Given the description of an element on the screen output the (x, y) to click on. 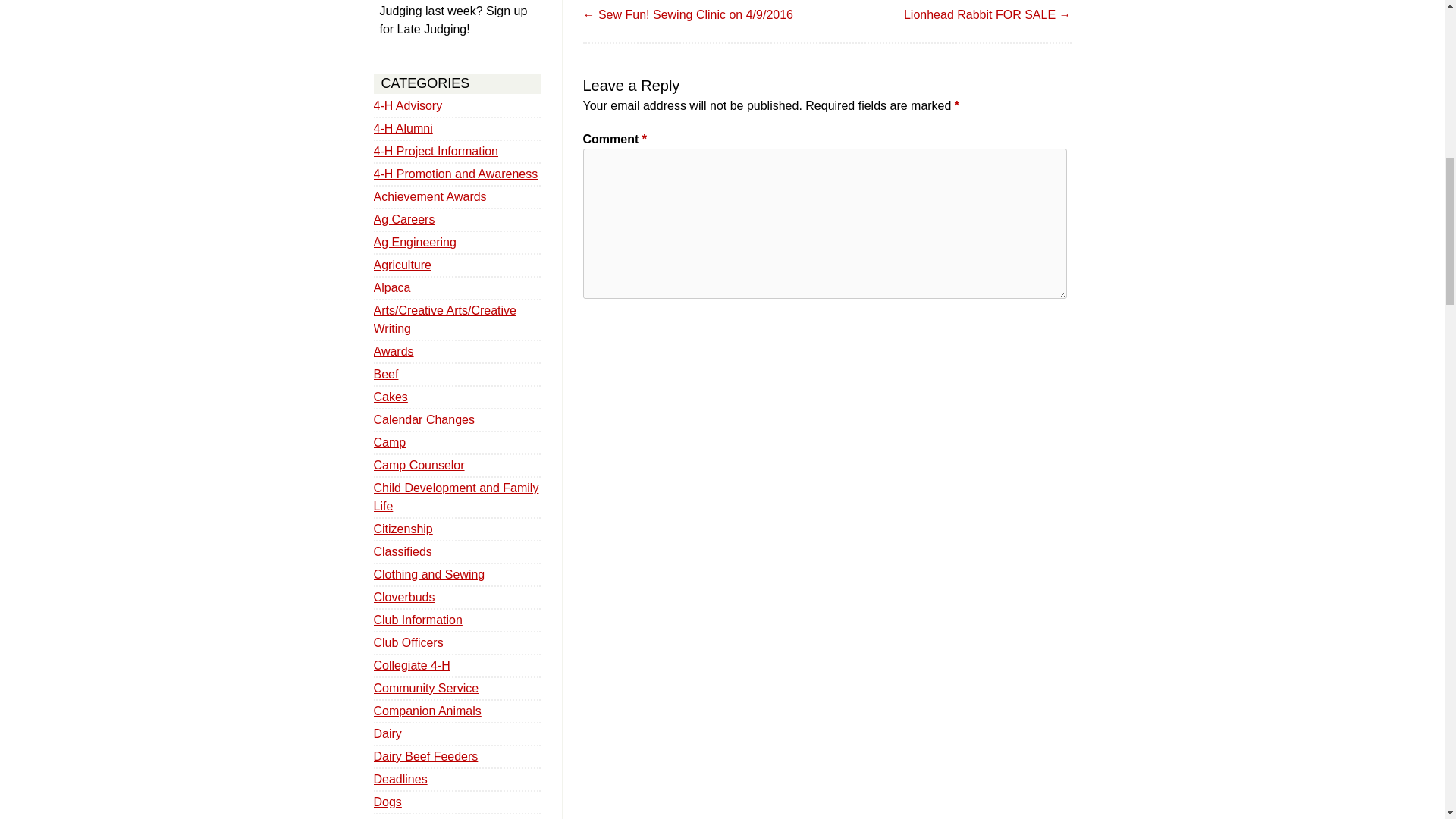
Cakes (389, 396)
4-H Advisory (407, 105)
4-H Promotion and Awareness (454, 173)
Calendar Changes (423, 419)
Child Development and Family Life (455, 496)
Citizenship (402, 528)
Awards (392, 350)
4-H Alumni (402, 128)
Beef (384, 373)
Achievement Awards (429, 196)
Agriculture (401, 264)
Camp Counselor (418, 464)
4-H Project Information (434, 151)
Camp (389, 441)
